Given the description of an element on the screen output the (x, y) to click on. 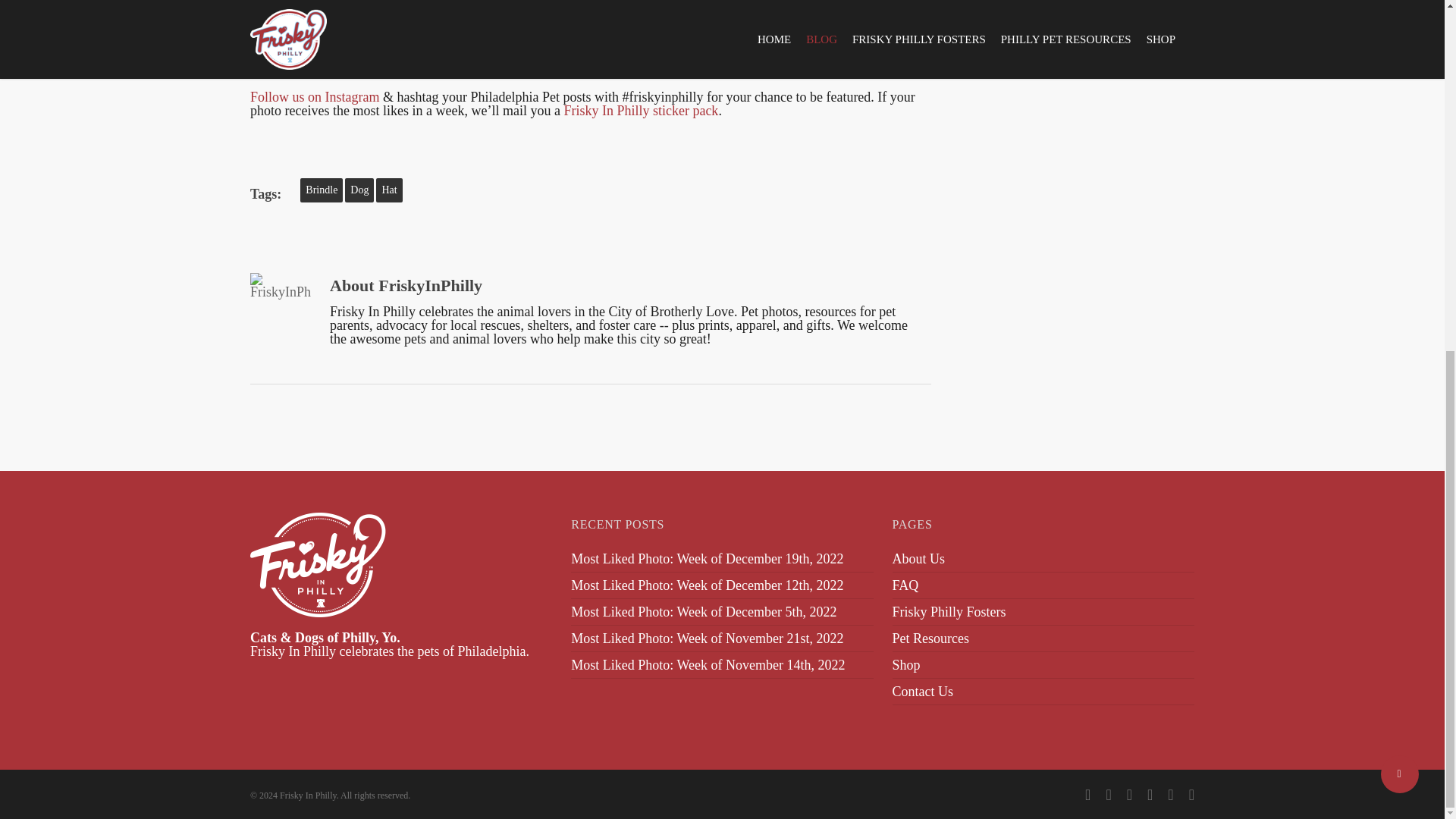
Most Liked Photo: Week of December 19th, 2022 (706, 558)
Frisky In Philly Sticker (640, 110)
Most Liked Photo: Week of December 12th, 2022 (706, 585)
Most Liked Photo: Week of November 14th, 2022 (707, 664)
Hat (388, 190)
Most Liked Photo: Week of December 5th, 2022 (702, 611)
Most Liked Photo: Week of November 21st, 2022 (706, 638)
Shop (1042, 664)
Frisky Philly Fosters (1042, 611)
Contact Us (1042, 691)
